Given the description of an element on the screen output the (x, y) to click on. 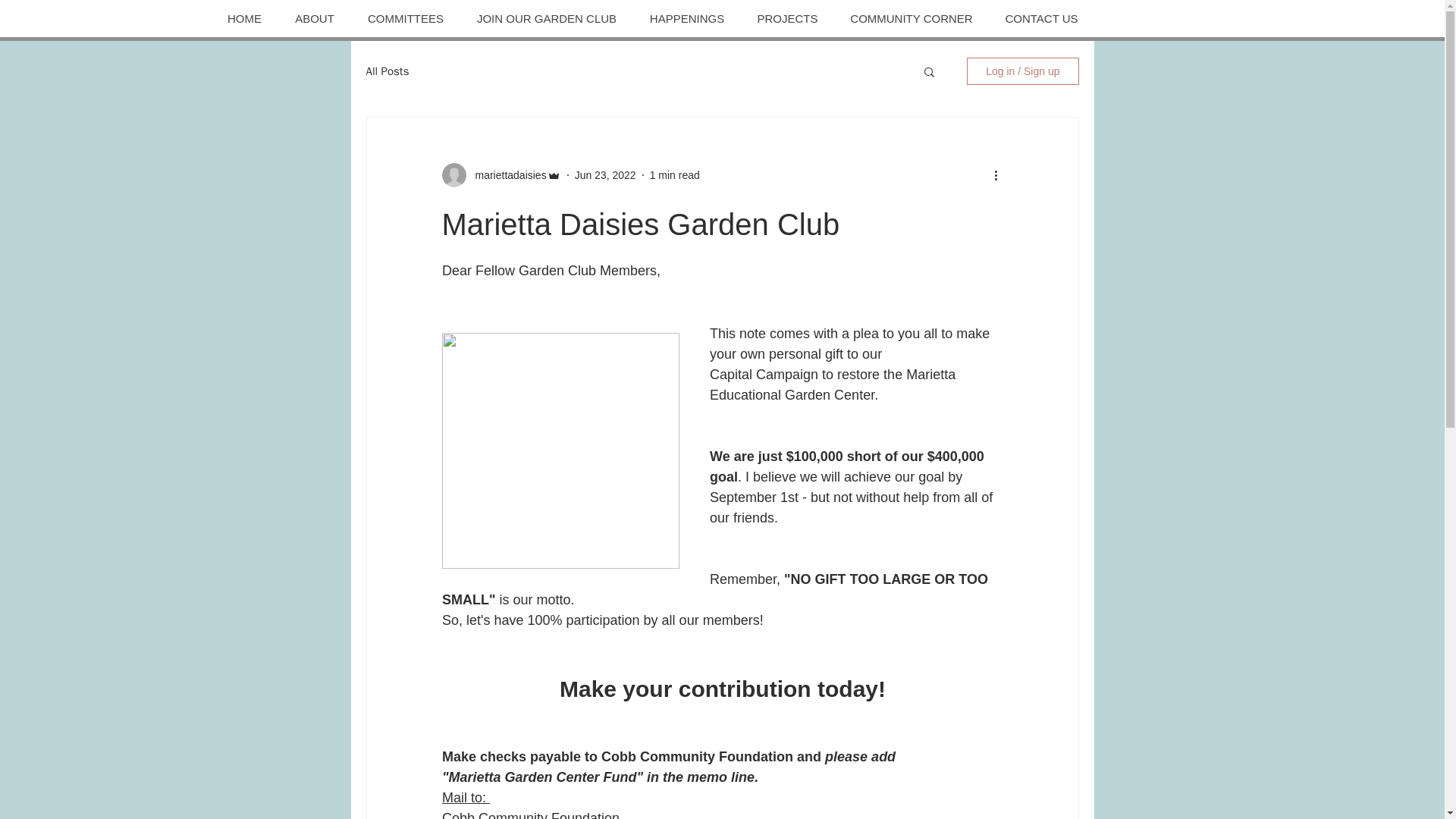
COMMUNITY CORNER (911, 18)
HAPPENINGS (685, 18)
All Posts (387, 70)
COMMITTEES (405, 18)
ABOUT (314, 18)
mariettadaisies (505, 174)
Jun 23, 2022 (605, 174)
HOME (244, 18)
1 min read (674, 174)
CONTACT US (1041, 18)
JOIN OUR GARDEN CLUB (545, 18)
PROJECTS (785, 18)
